Given the description of an element on the screen output the (x, y) to click on. 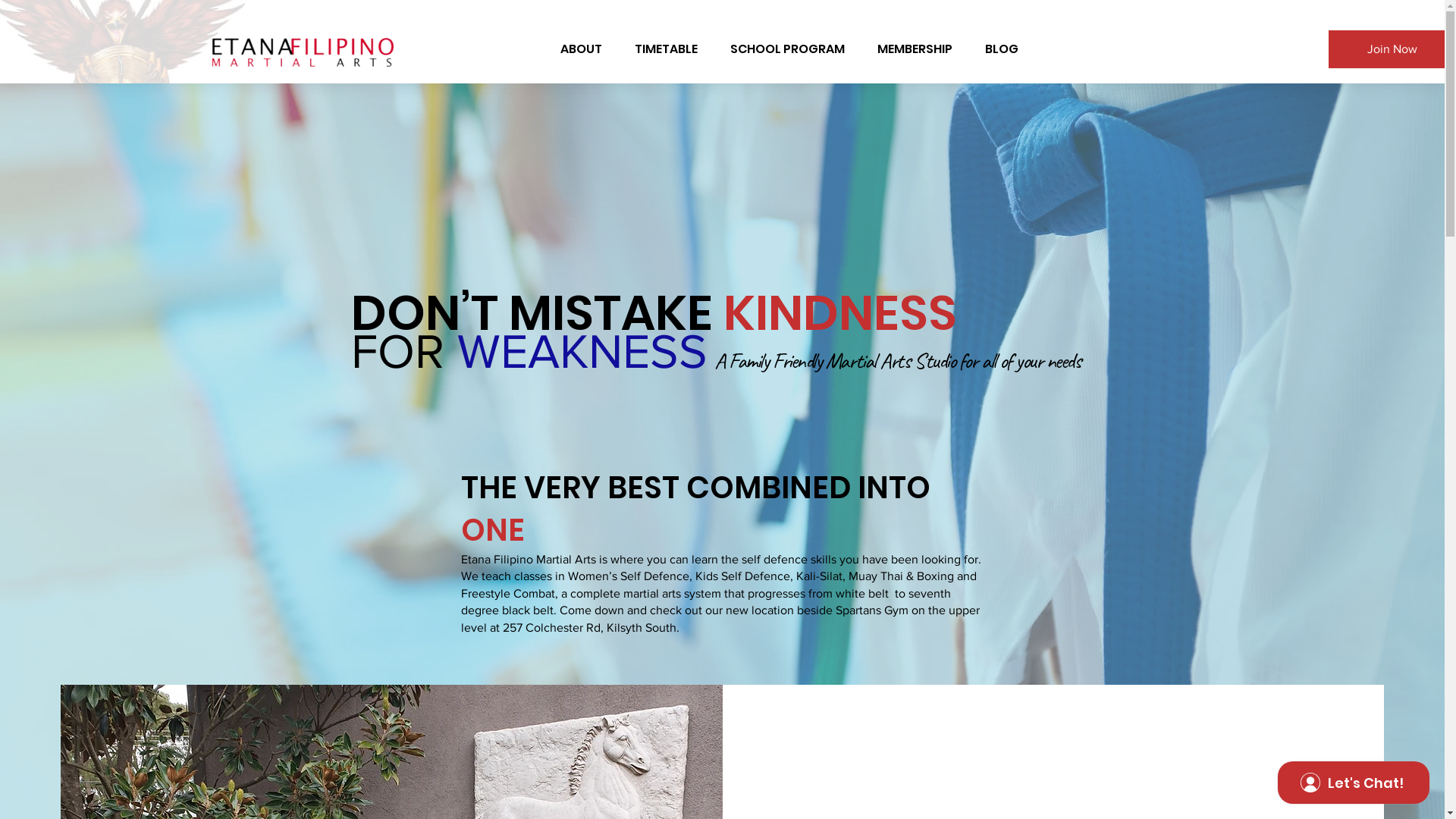
BLOG Element type: text (1002, 49)
MEMBERSHIP Element type: text (915, 49)
SCHOOL PROGRAM Element type: text (787, 49)
ABOUT Element type: text (580, 49)
TIMETABLE Element type: text (666, 49)
